Given the description of an element on the screen output the (x, y) to click on. 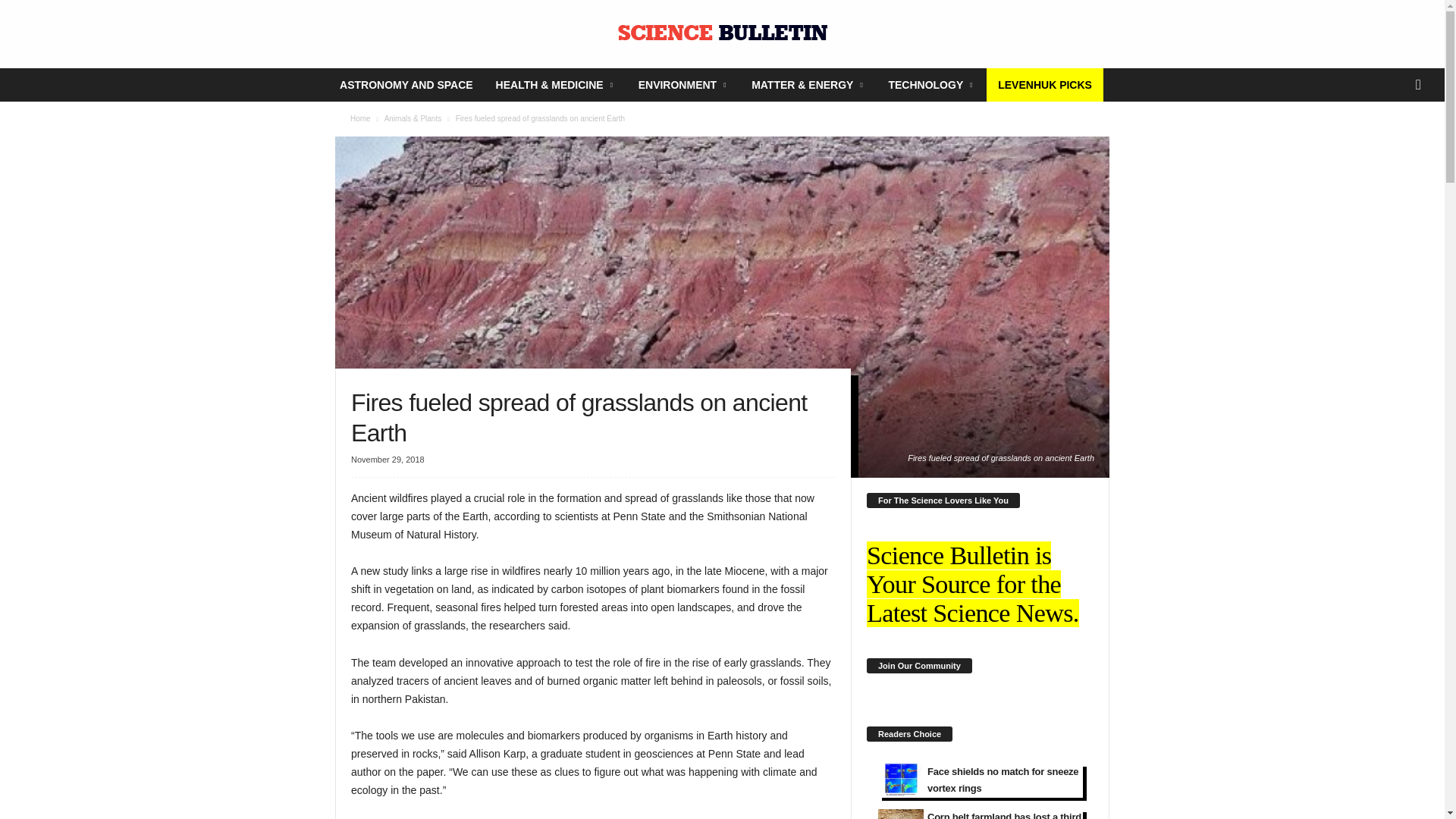
ENVIRONMENT (683, 84)
ASTRONOMY AND SPACE (406, 84)
